Given the description of an element on the screen output the (x, y) to click on. 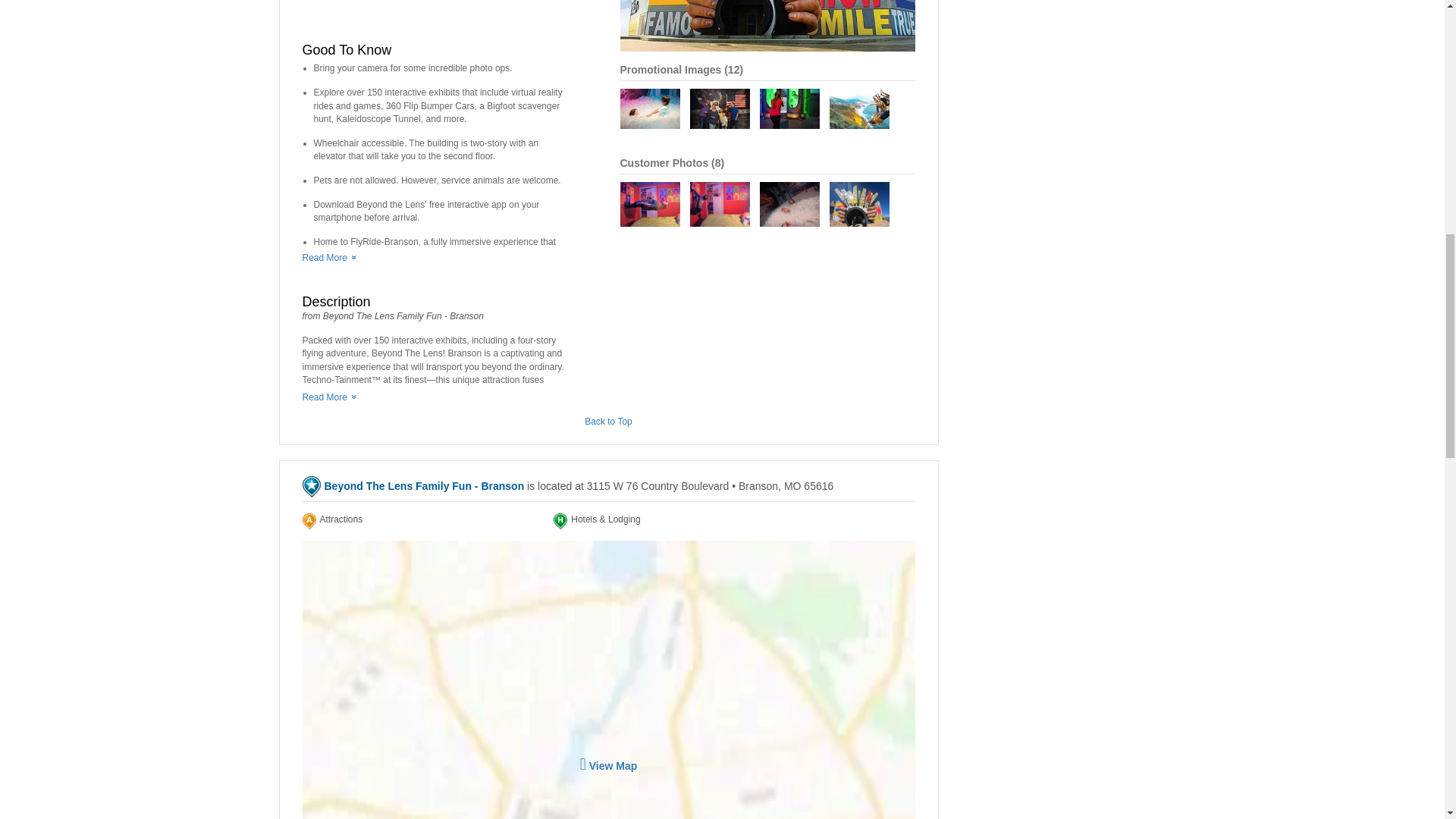
Read More (328, 257)
Read More (328, 397)
12 (733, 69)
